Given the description of an element on the screen output the (x, y) to click on. 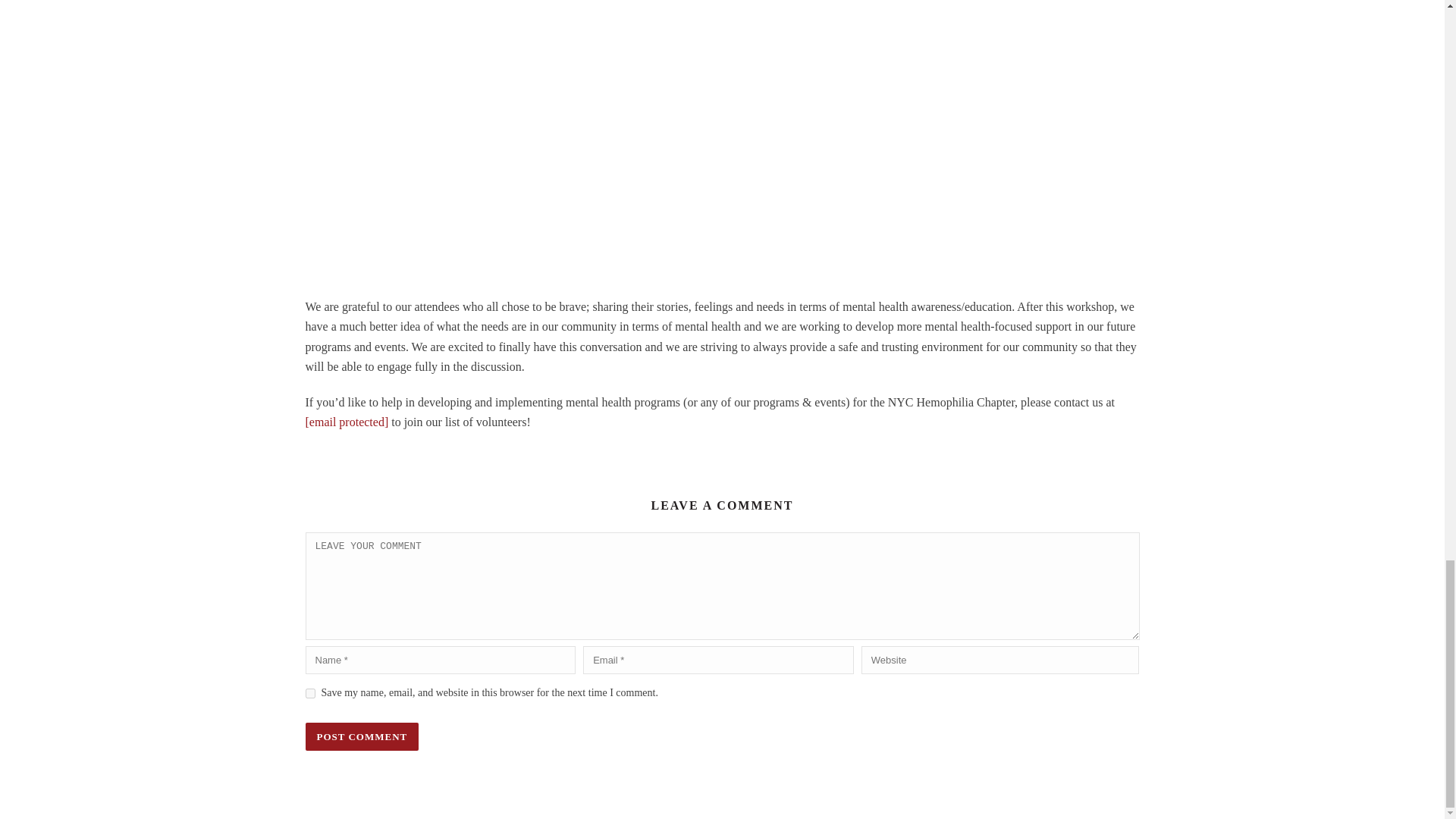
yes (309, 693)
POST COMMENT (361, 736)
